Given the description of an element on the screen output the (x, y) to click on. 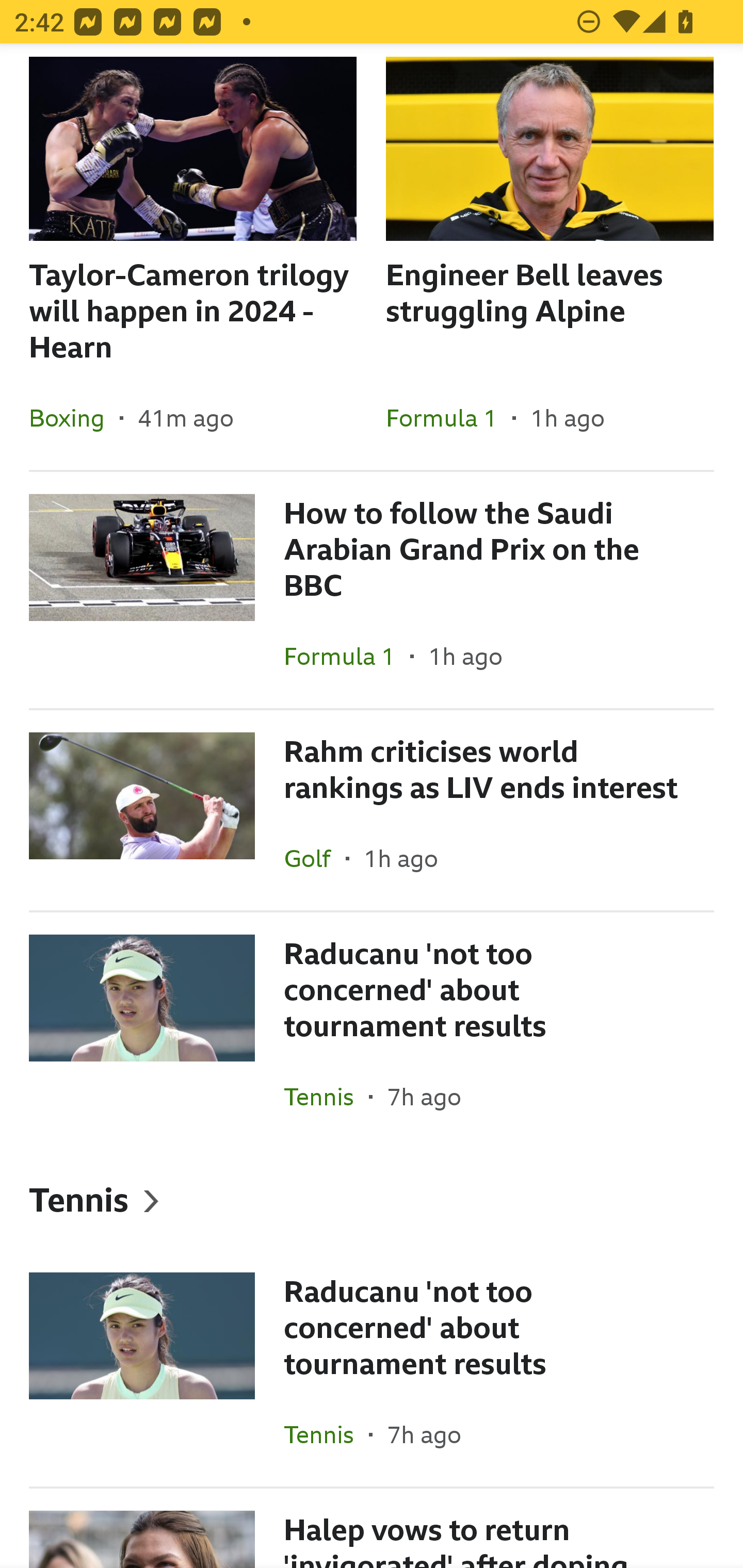
Tennis, Heading Tennis    (371, 1199)
